Given the description of an element on the screen output the (x, y) to click on. 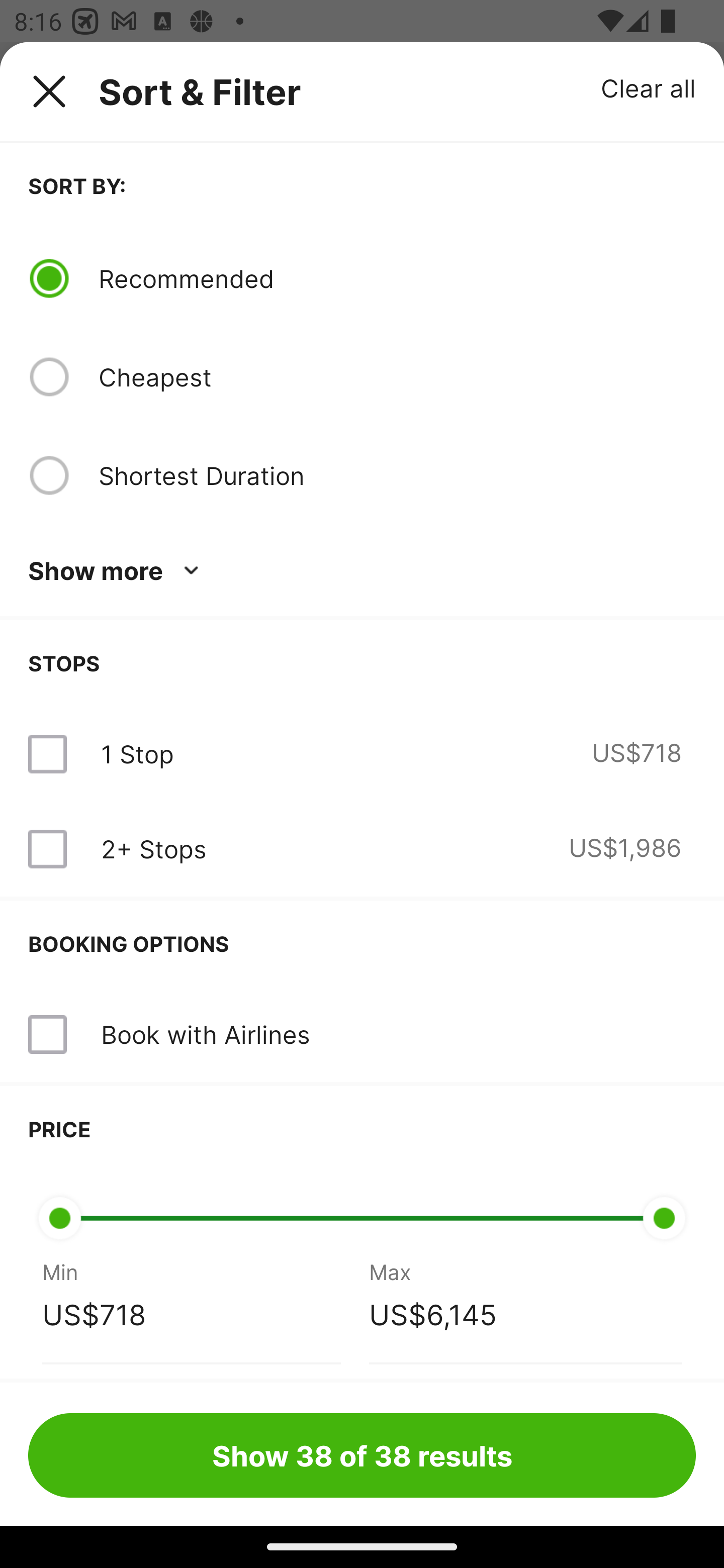
Clear all (648, 87)
Recommended  (396, 278)
Cheapest (396, 377)
Shortest Duration (396, 474)
Show more (116, 570)
1 Stop US$718 (362, 754)
1 Stop (136, 753)
2+ Stops US$1,986 (362, 848)
2+ Stops (153, 849)
Book with Airlines (362, 1033)
Book with Airlines (204, 1034)
Show 38 of 38 results (361, 1454)
